Given the description of an element on the screen output the (x, y) to click on. 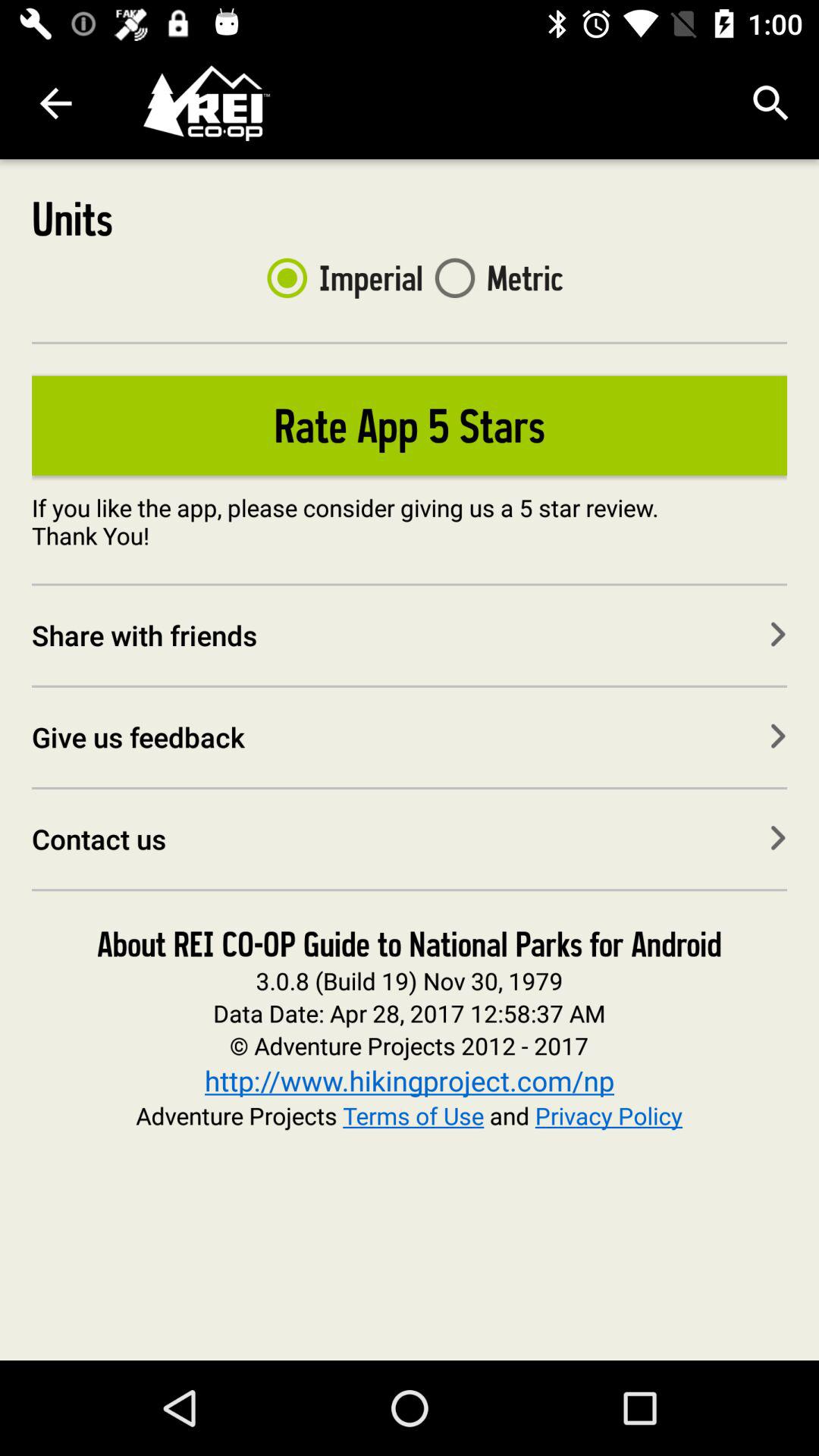
swipe to the metric item (493, 277)
